Given the description of an element on the screen output the (x, y) to click on. 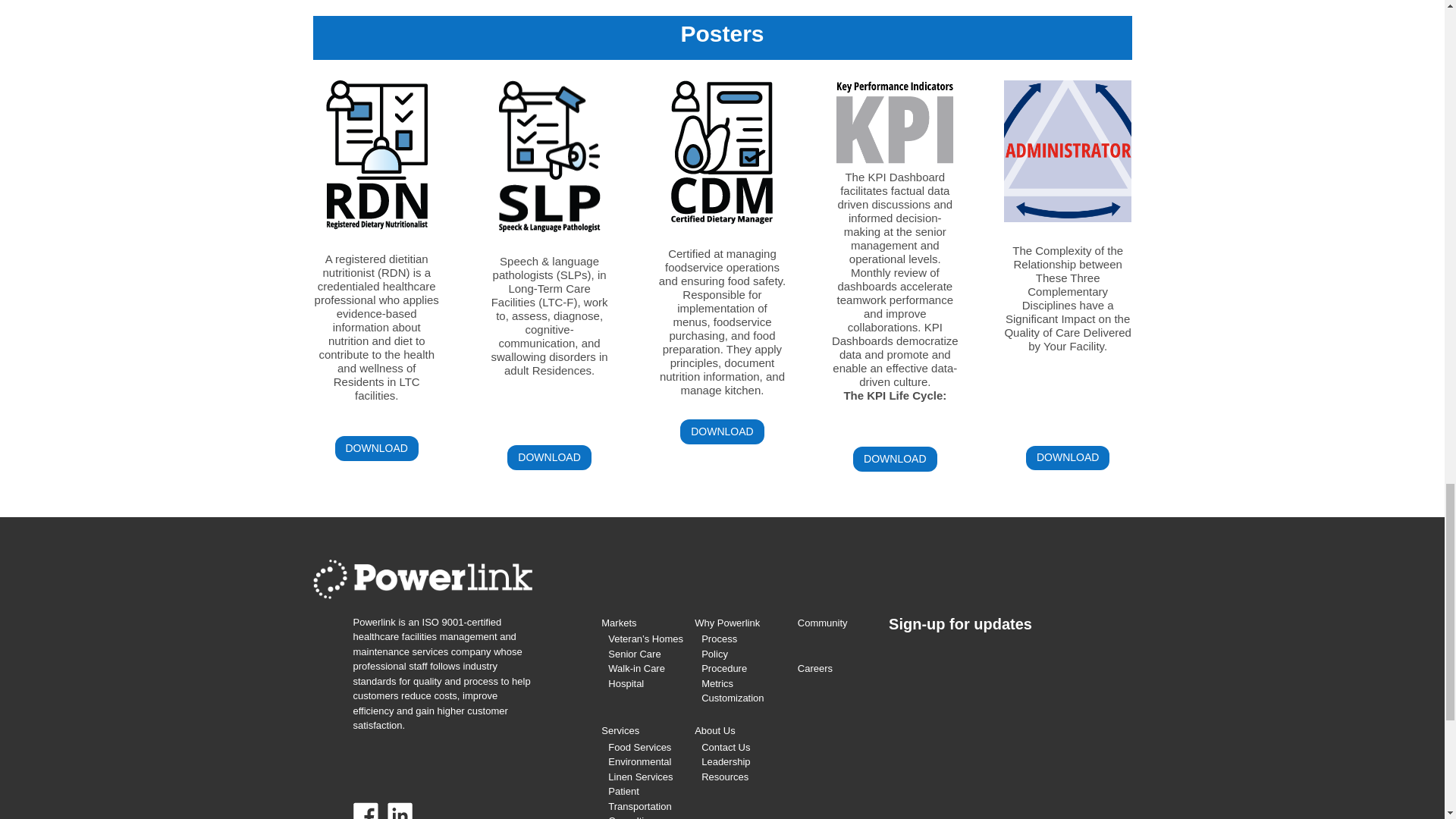
White Logos Web LinearAsset 1 (422, 578)
Form 0 (1009, 736)
